Given the description of an element on the screen output the (x, y) to click on. 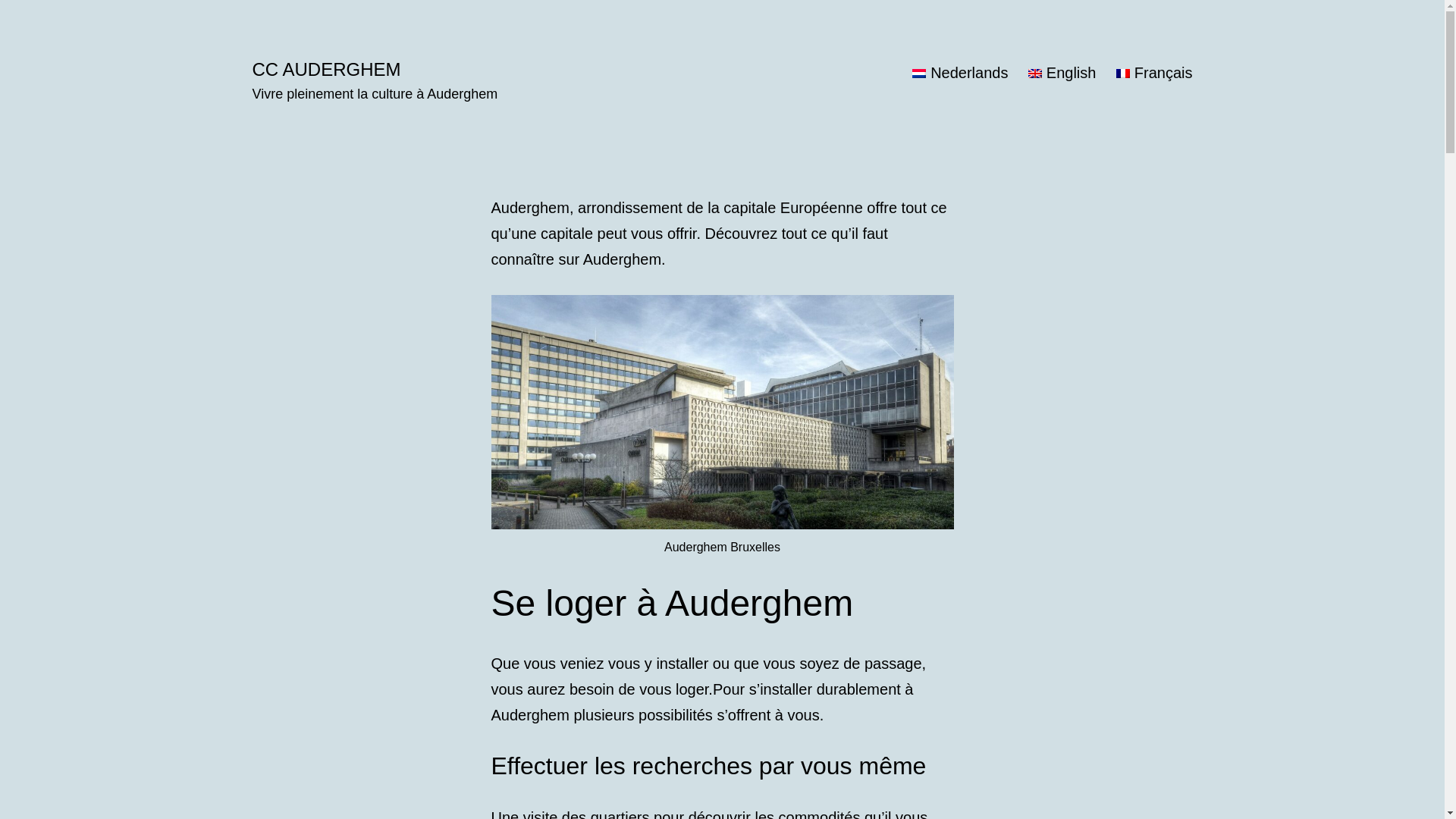
Nederlands Element type: text (960, 72)
English Element type: text (1062, 72)
